Given the description of an element on the screen output the (x, y) to click on. 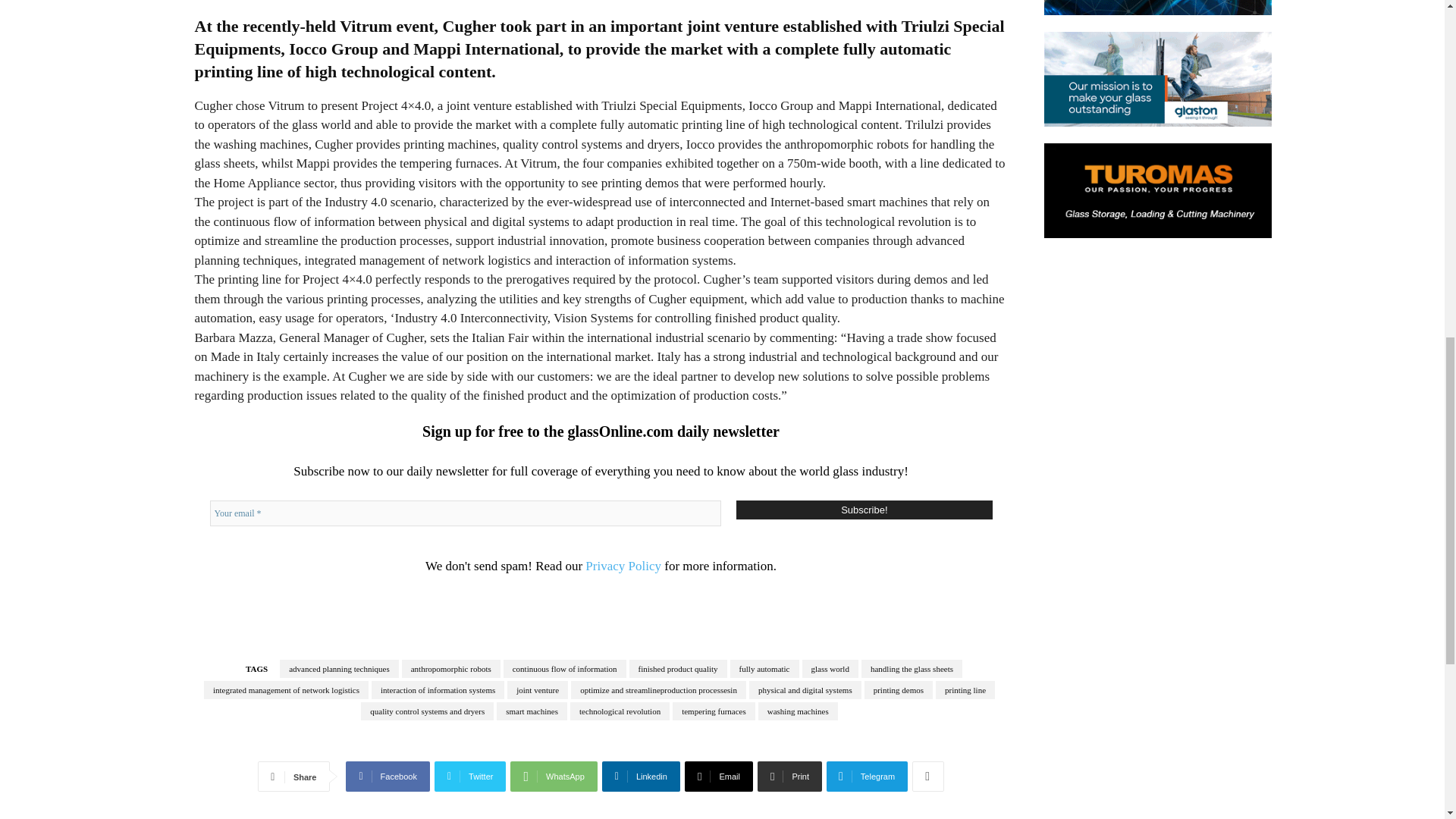
Facebook (387, 776)
WhatsApp (553, 776)
Print (789, 776)
Twitter (469, 776)
Subscribe! (863, 509)
Linkedin (640, 776)
Your email (464, 513)
Email (718, 776)
